Given the description of an element on the screen output the (x, y) to click on. 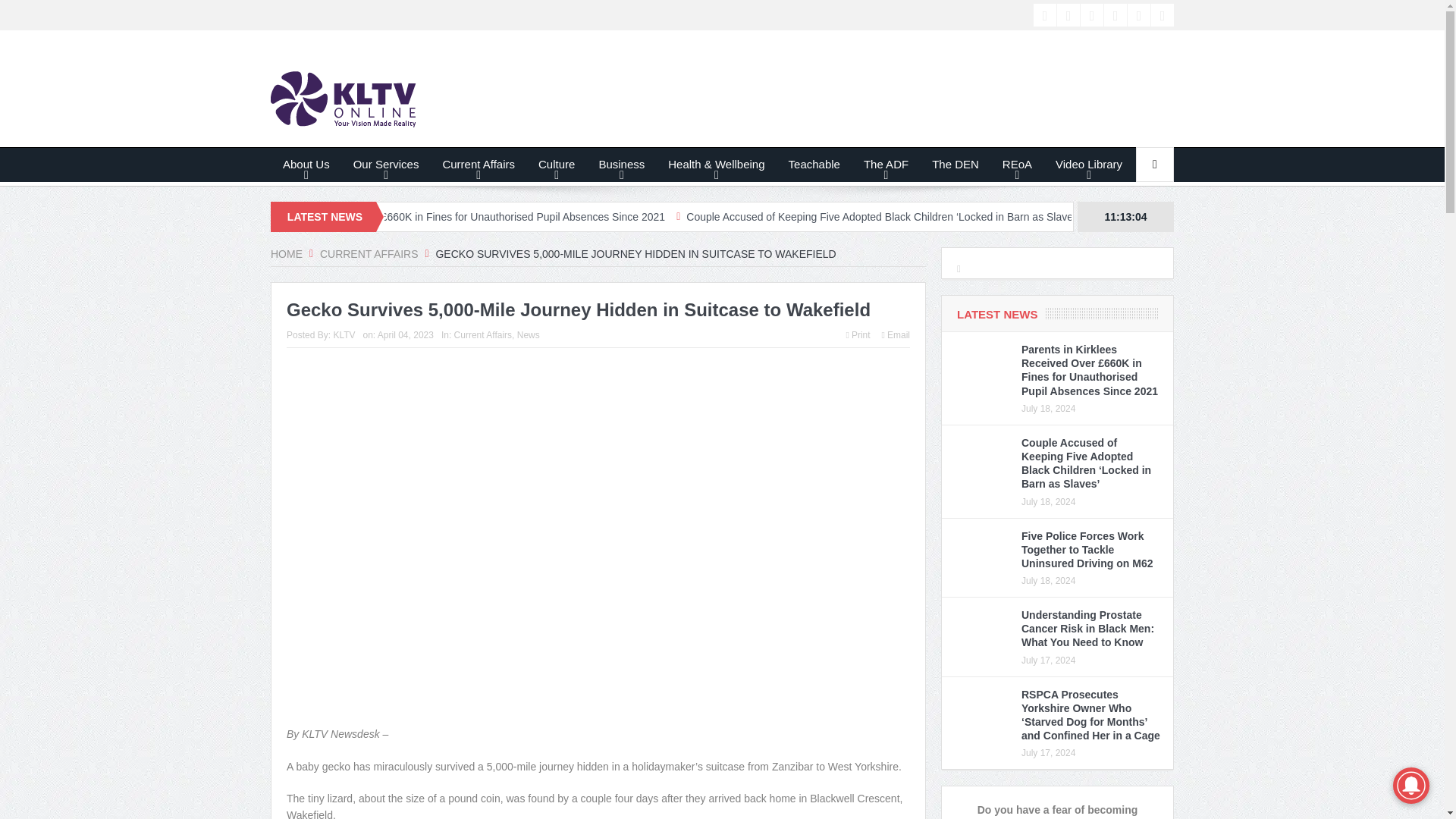
Business (621, 164)
About Us (305, 164)
REoA (1017, 164)
Culture (556, 164)
The DEN (955, 164)
Current Affairs (477, 164)
The ADF (885, 164)
Current Affairs (369, 254)
View all posts in News (528, 335)
Video Library (1088, 164)
View all posts in Current Affairs (483, 335)
Teachable (814, 164)
Our Services (386, 164)
